Given the description of an element on the screen output the (x, y) to click on. 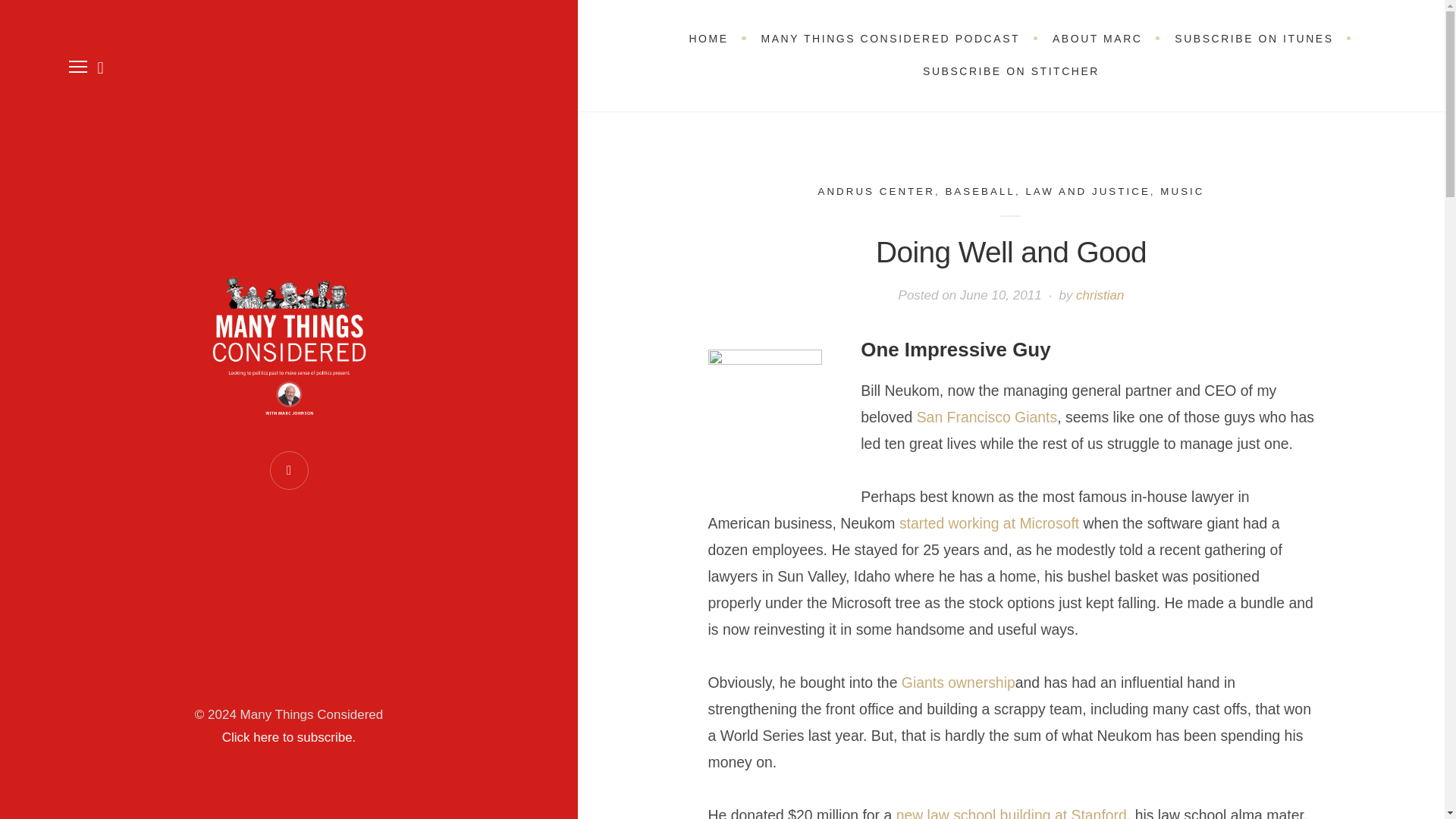
Giants ownership (957, 682)
SUBSCRIBE ON STITCHER (1010, 71)
christian (1099, 295)
started working at Microsoft (988, 523)
ABOUT MARC (1097, 38)
Click here to subscribe. (289, 737)
ANDRUS CENTER (875, 191)
new law school building at Stanford (1011, 812)
BASEBALL (979, 191)
San Francisco Giants (987, 416)
